Given the description of an element on the screen output the (x, y) to click on. 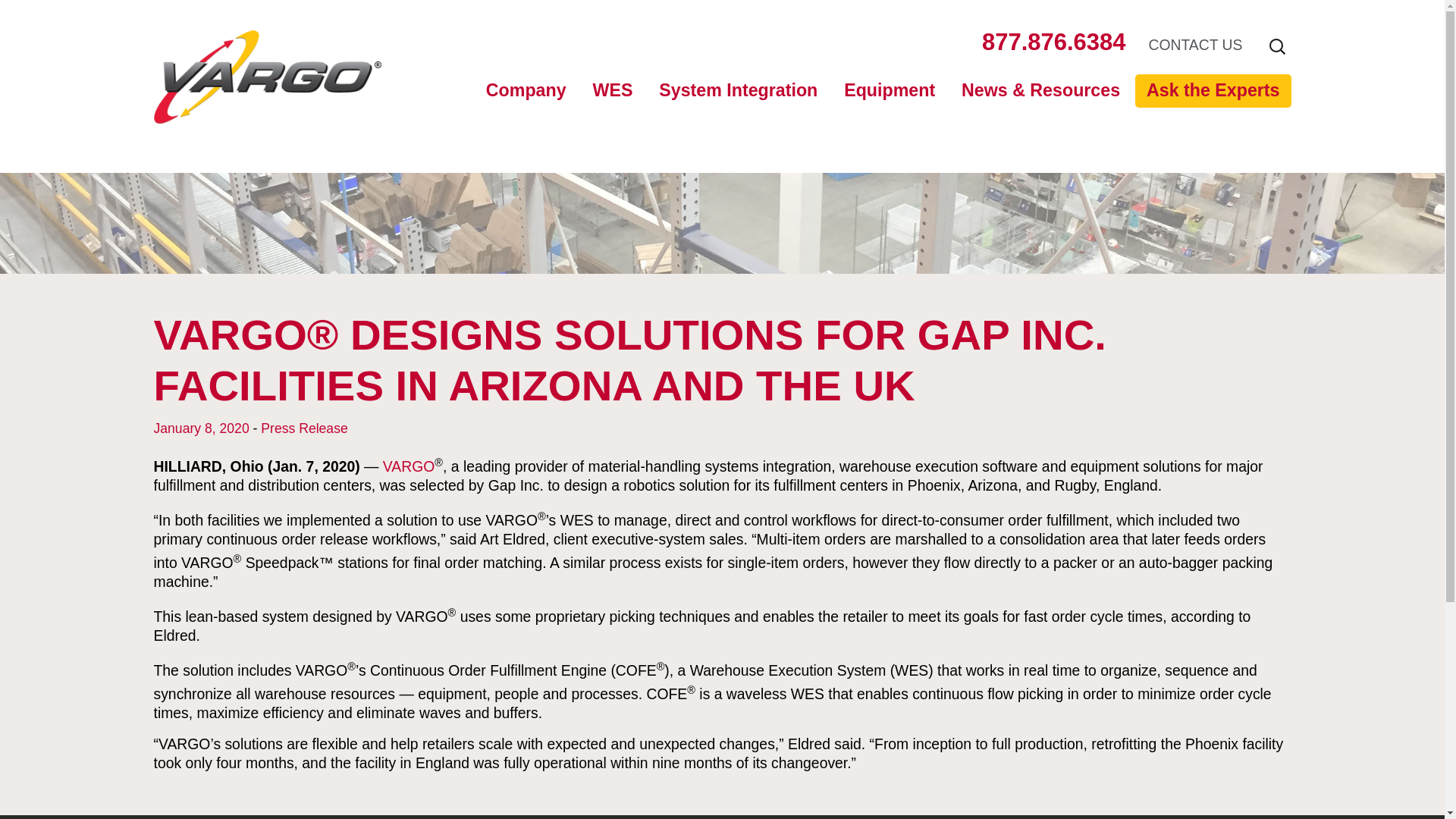
News (1035, 123)
Press Release (303, 427)
VARGO (408, 466)
Our Process (560, 123)
CONTACT US (1194, 44)
Company (526, 90)
Equipment (889, 90)
VARGO (266, 108)
877.876.6384 (1053, 41)
Catalog (918, 123)
Ask the Experts (1213, 90)
System Integration (737, 90)
January 8, 2020 (200, 427)
Search (21, 7)
WES (611, 90)
